Given the description of an element on the screen output the (x, y) to click on. 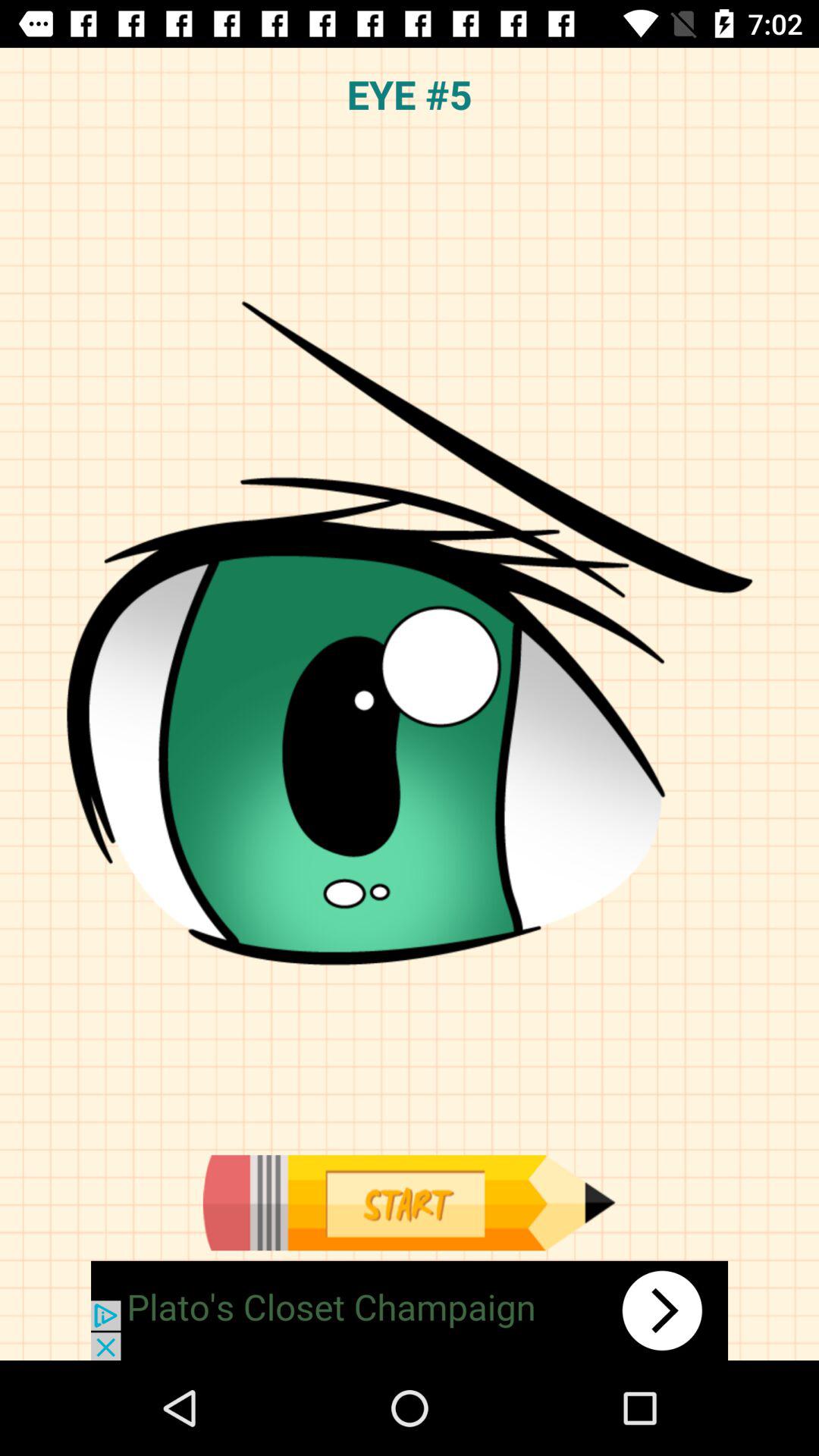
start drawing (409, 1202)
